Given the description of an element on the screen output the (x, y) to click on. 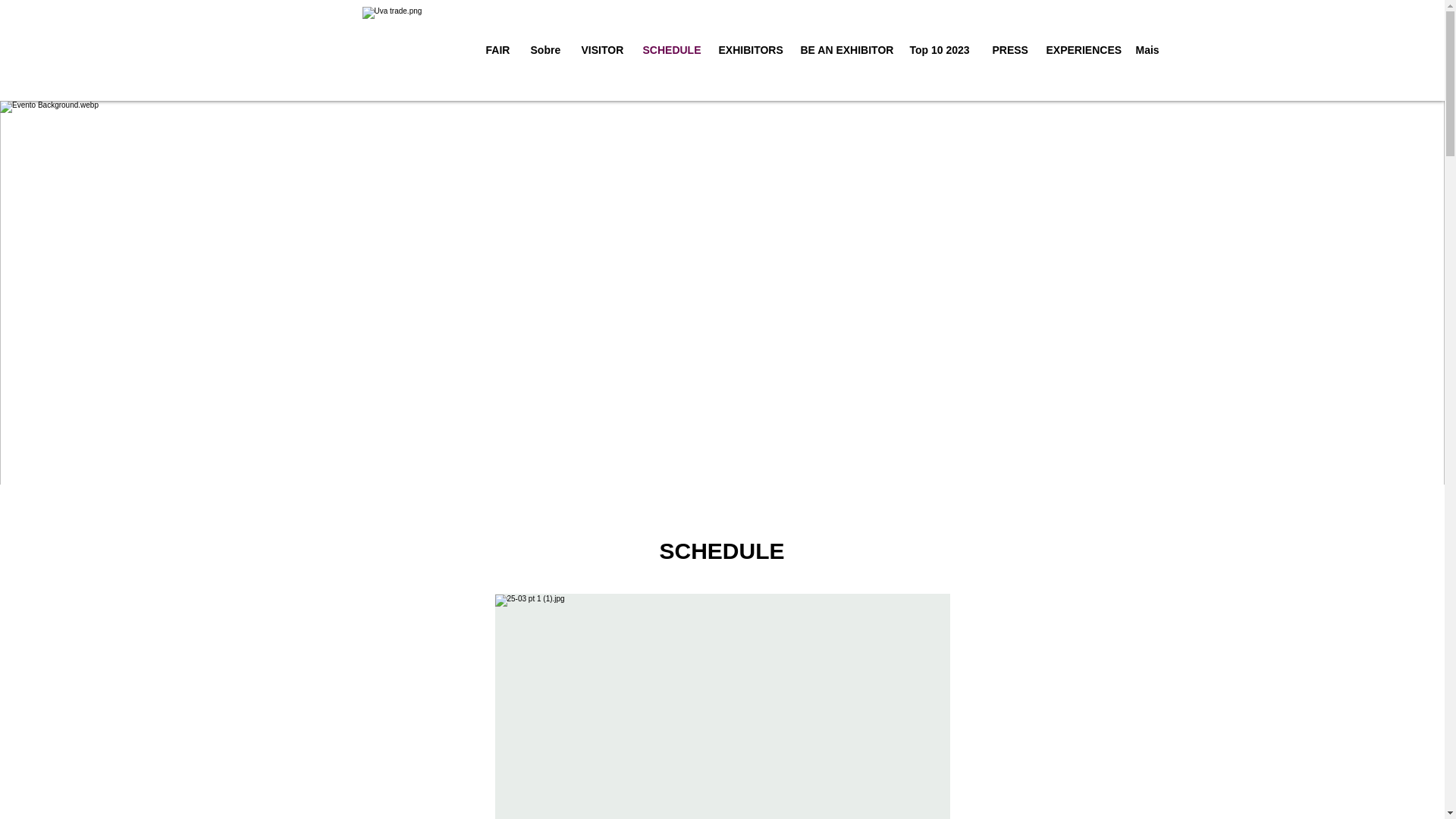
VISITOR (600, 49)
PRESS (1008, 49)
FAIR (496, 49)
SCHEDULE (668, 49)
EXPERIENCES (1078, 49)
Sobre (543, 49)
Top 10 2023 (938, 49)
BE AN EXHIBITOR (843, 49)
EXHIBITORS (747, 49)
